Given the description of an element on the screen output the (x, y) to click on. 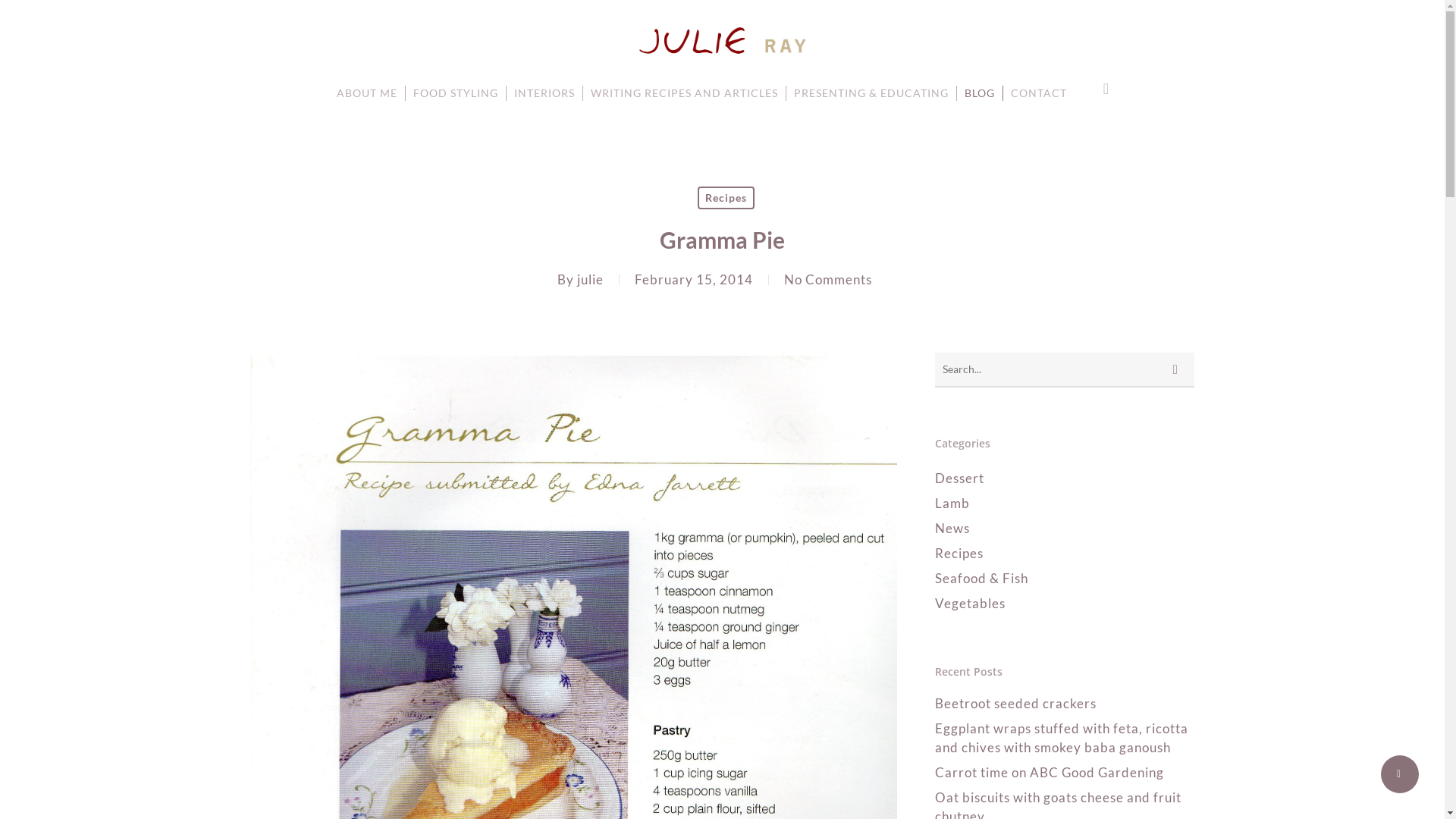
search Element type: text (1106, 89)
Recipes Element type: text (725, 197)
julie Element type: text (590, 279)
News Element type: text (1064, 527)
Seafood & Fish Element type: text (1064, 577)
INTERIORS Element type: text (544, 92)
ABOUT ME Element type: text (367, 92)
CONTACT Element type: text (1038, 92)
No Comments Element type: text (828, 279)
BLOG Element type: text (980, 92)
PRESENTING & EDUCATING Element type: text (871, 92)
Search for: Element type: hover (1064, 369)
Lamb Element type: text (1064, 502)
Beetroot seeded crackers Element type: text (1064, 702)
Vegetables Element type: text (1064, 602)
Recipes Element type: text (1064, 552)
FOOD STYLING Element type: text (455, 92)
WRITING RECIPES AND ARTICLES Element type: text (684, 92)
Dessert Element type: text (1064, 477)
Carrot time on ABC Good Gardening Element type: text (1064, 771)
